Given the description of an element on the screen output the (x, y) to click on. 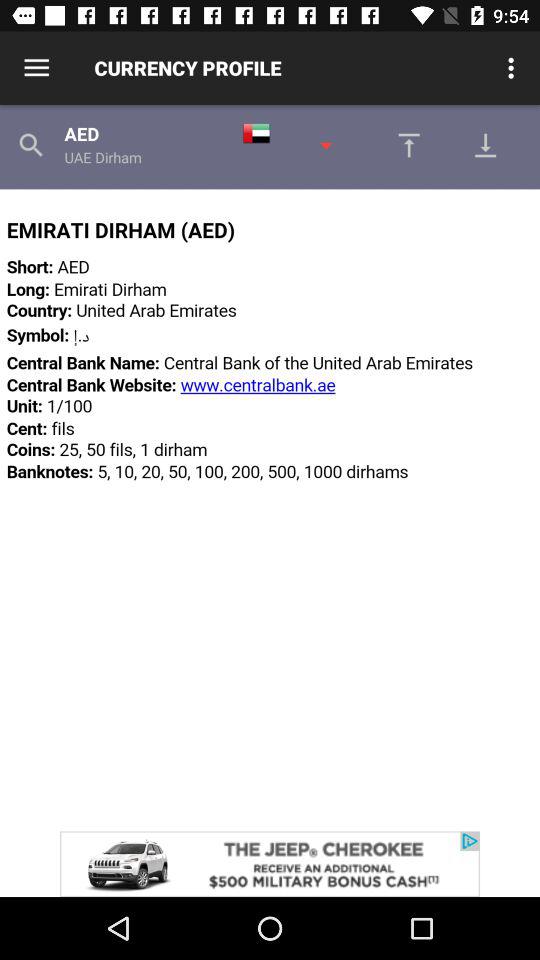
upload (403, 145)
